Given the description of an element on the screen output the (x, y) to click on. 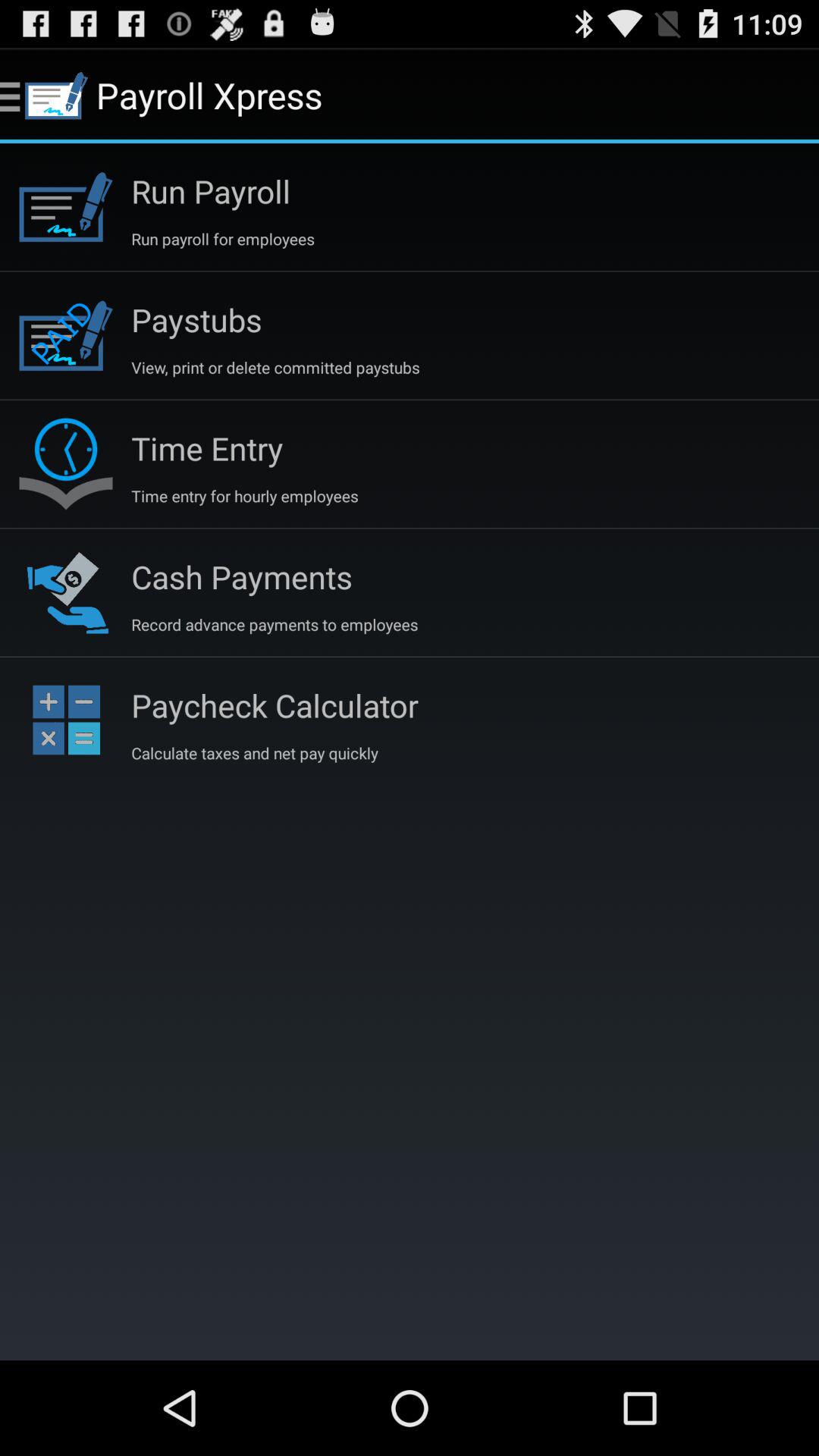
launch icon below the cash payments (274, 624)
